Given the description of an element on the screen output the (x, y) to click on. 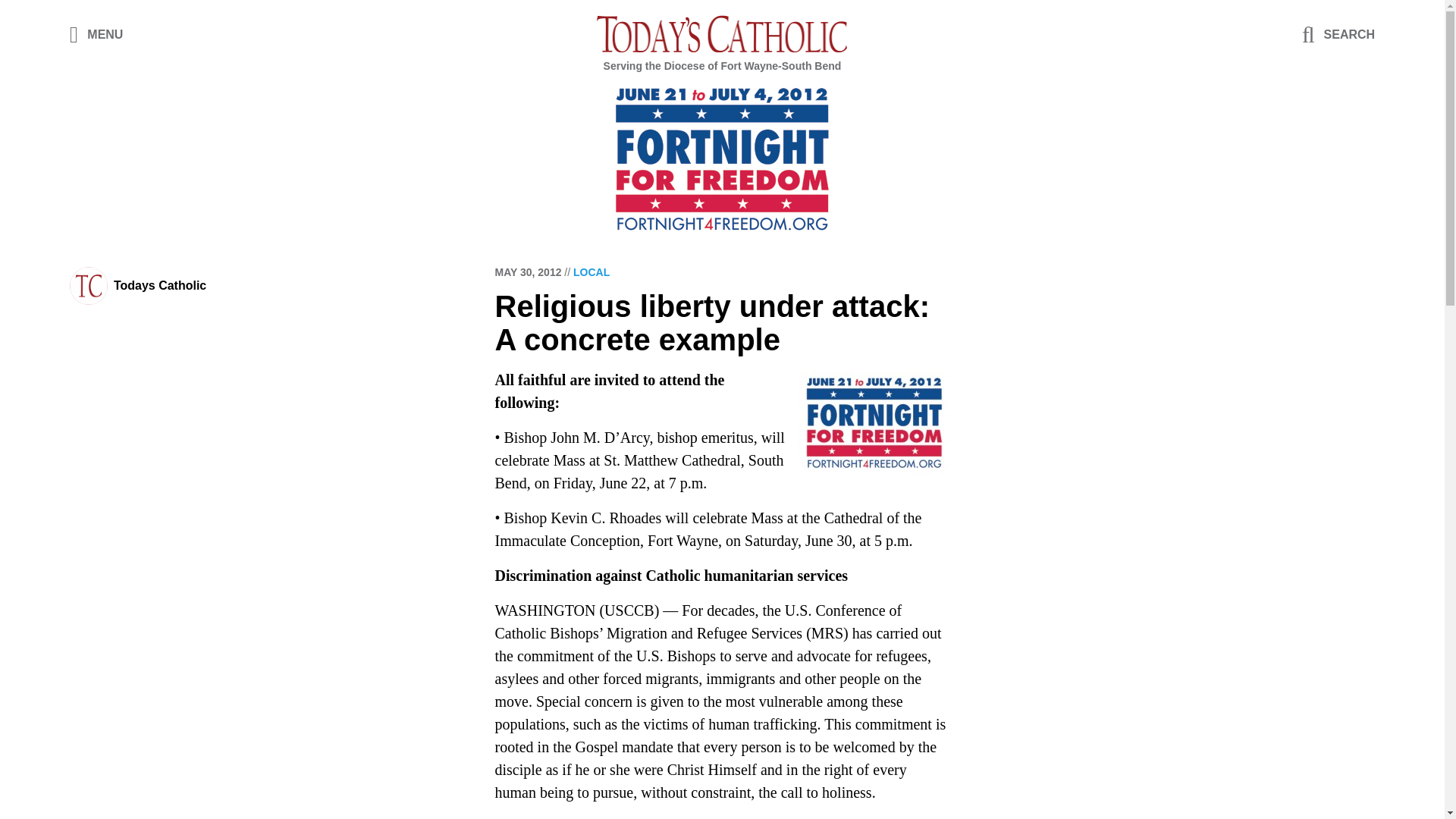
MENU (96, 33)
LOCAL (591, 272)
Todays Catholic (159, 285)
